Given the description of an element on the screen output the (x, y) to click on. 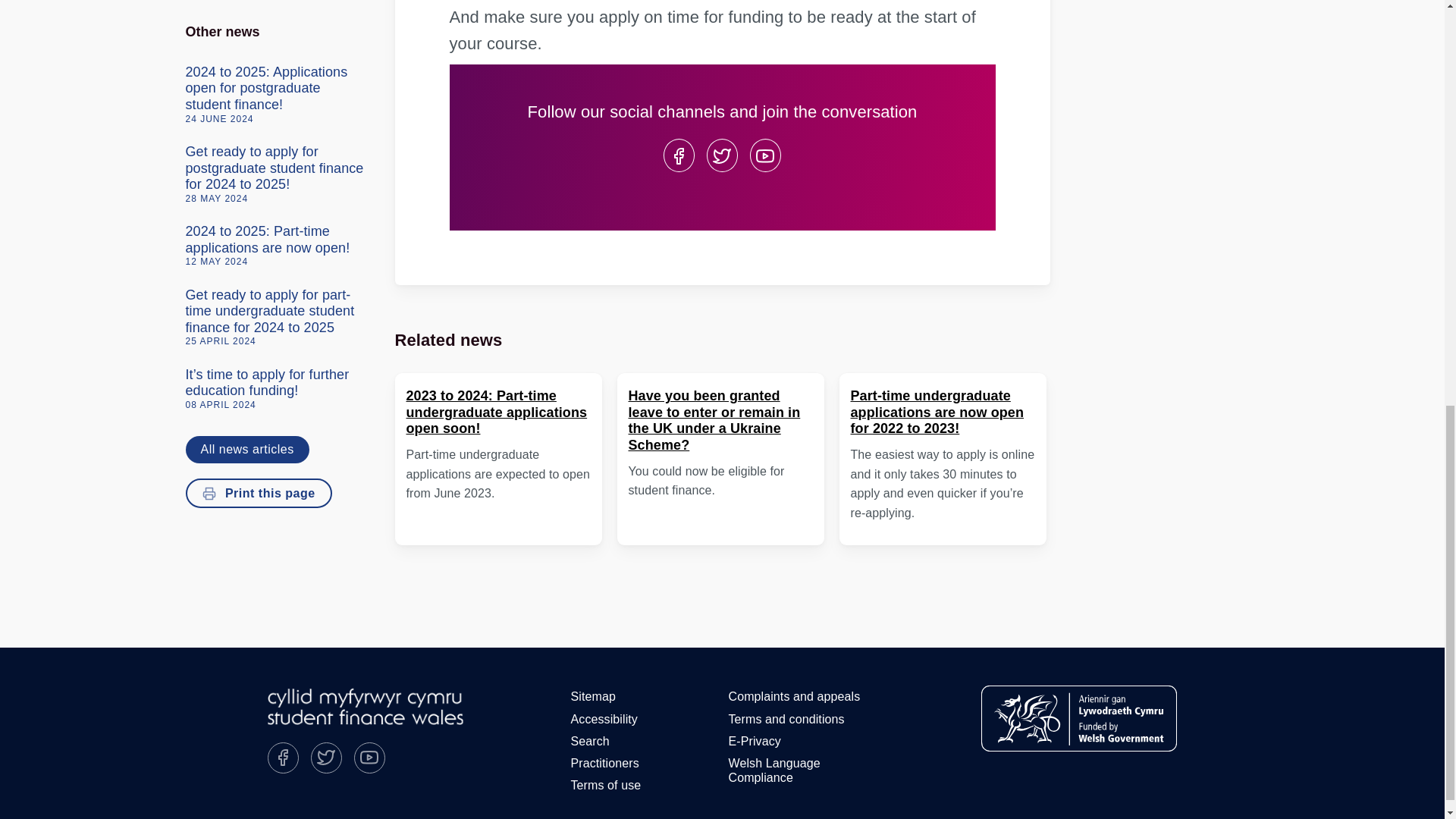
Search (590, 741)
Follow us on Twitter (722, 154)
Accessibility (603, 719)
Follow us on Twitter (326, 757)
Sitemap (592, 696)
Subscribe on YouTube (368, 757)
Like us on Facebook (678, 154)
